Given the description of an element on the screen output the (x, y) to click on. 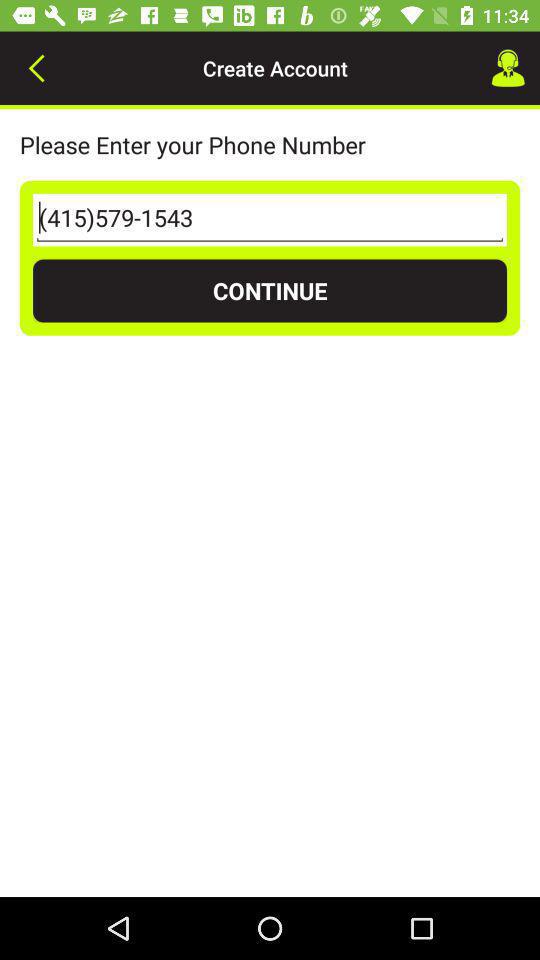
turn on item below the please enter your (270, 219)
